Given the description of an element on the screen output the (x, y) to click on. 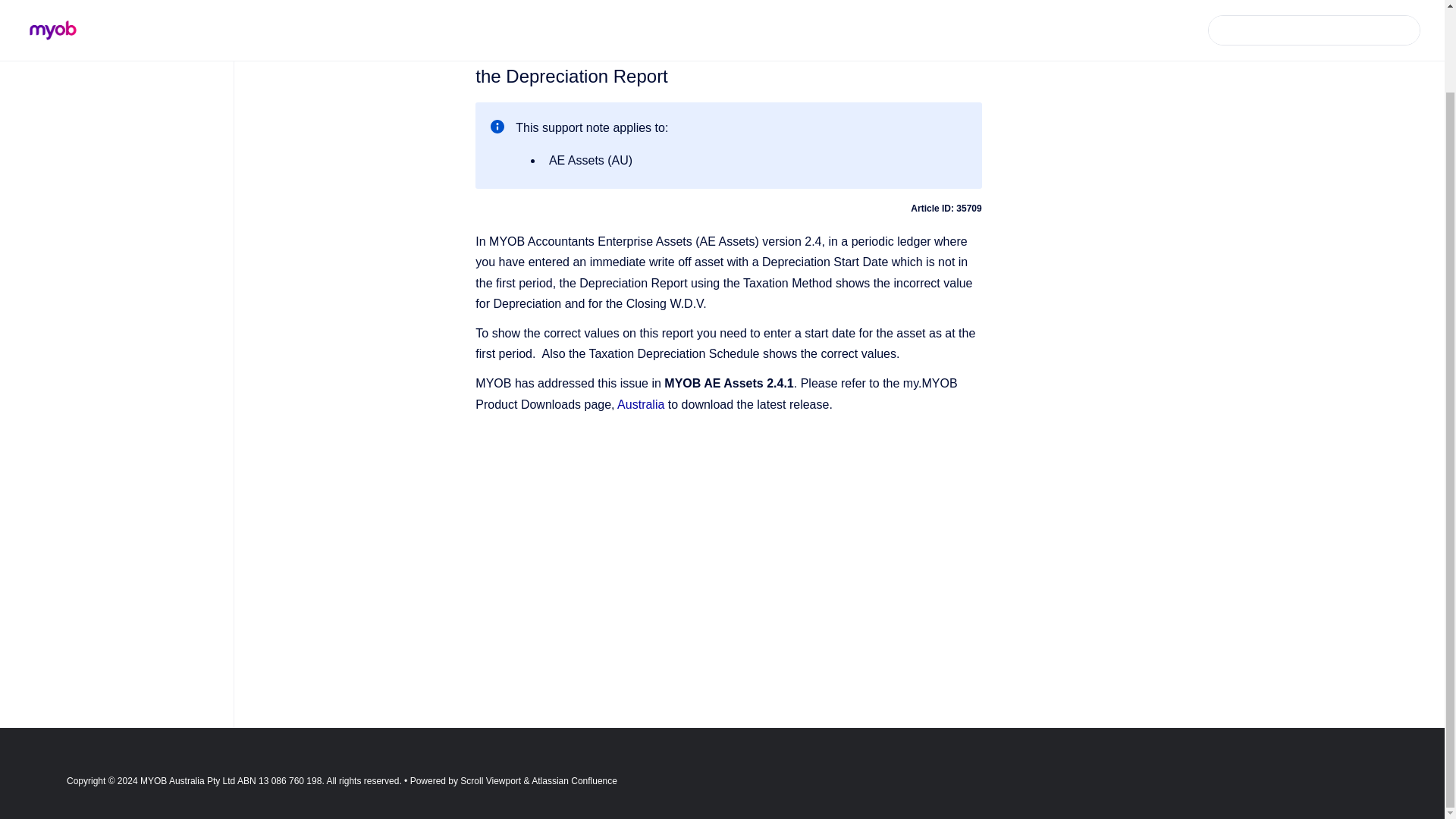
Australia (640, 404)
Knowledge base articles (619, 4)
Knowledge base (512, 4)
Scroll Viewport (491, 780)
Atlassian Confluence (574, 780)
